Given the description of an element on the screen output the (x, y) to click on. 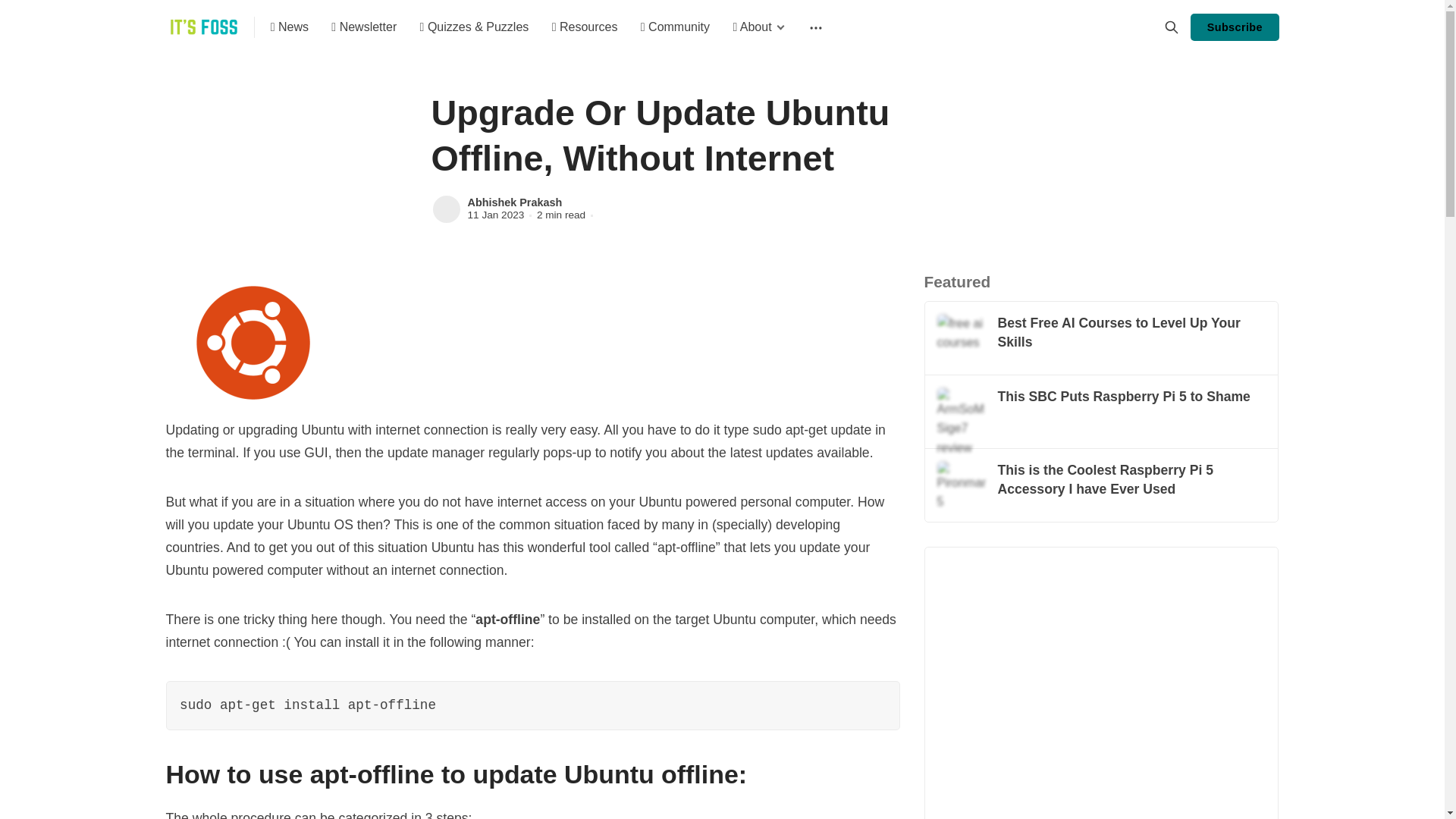
Search (1171, 26)
Subscribe (1234, 26)
Abhishek Prakash (445, 209)
Abhishek Prakash (514, 202)
